Given the description of an element on the screen output the (x, y) to click on. 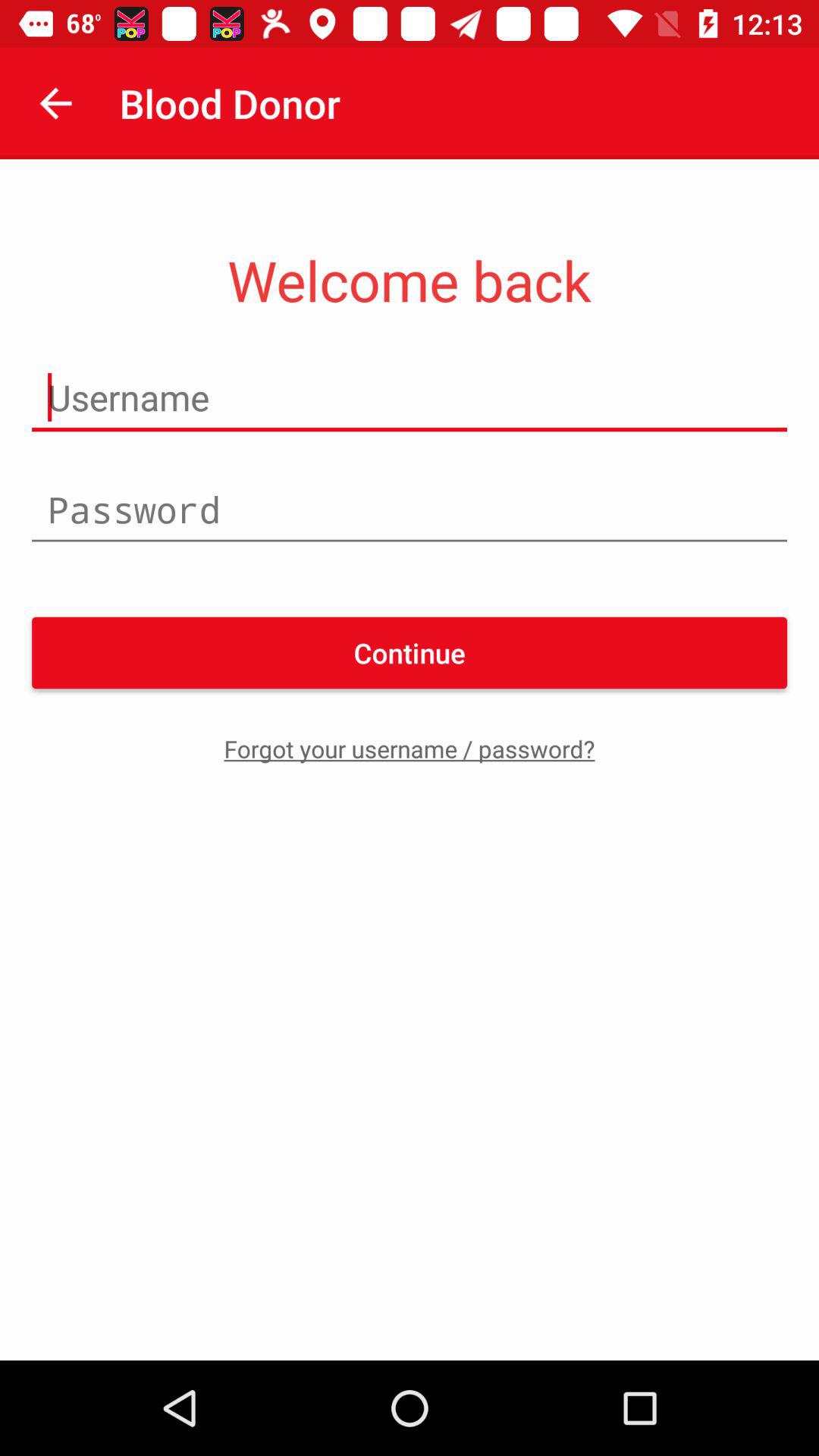
press continue (409, 652)
